Given the description of an element on the screen output the (x, y) to click on. 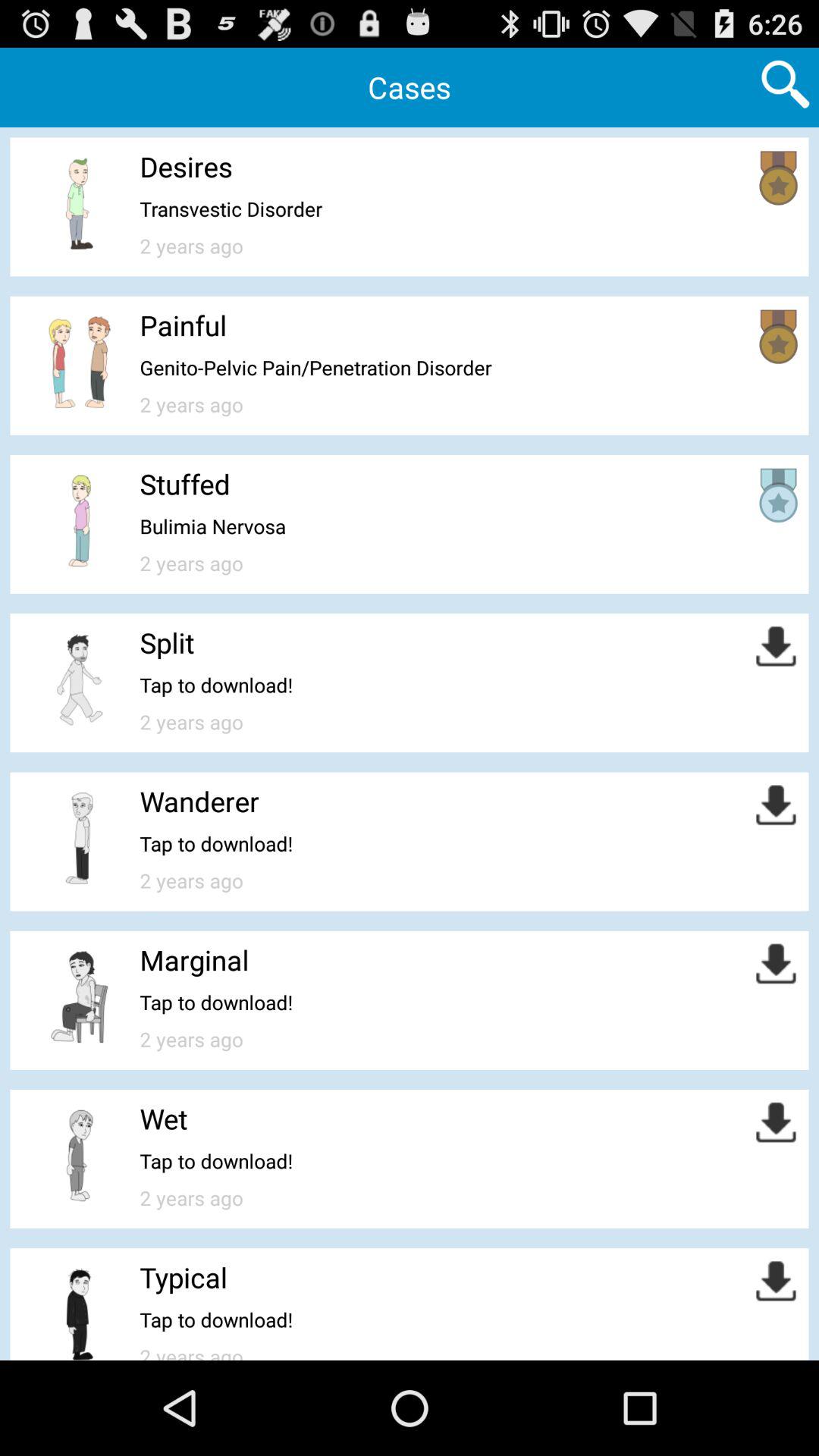
turn on the wet item (163, 1118)
